Given the description of an element on the screen output the (x, y) to click on. 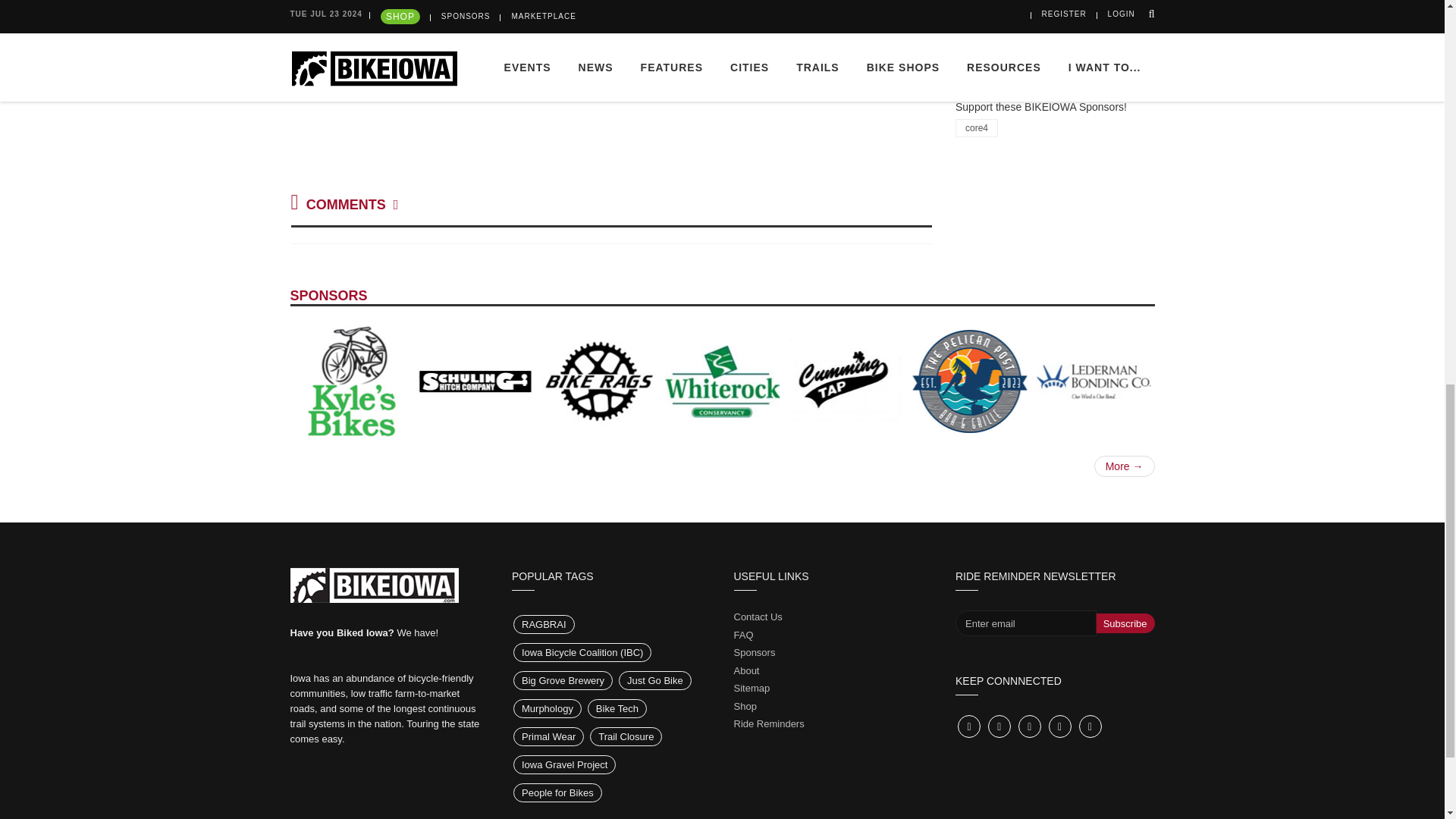
View details about core4 (976, 127)
